Given the description of an element on the screen output the (x, y) to click on. 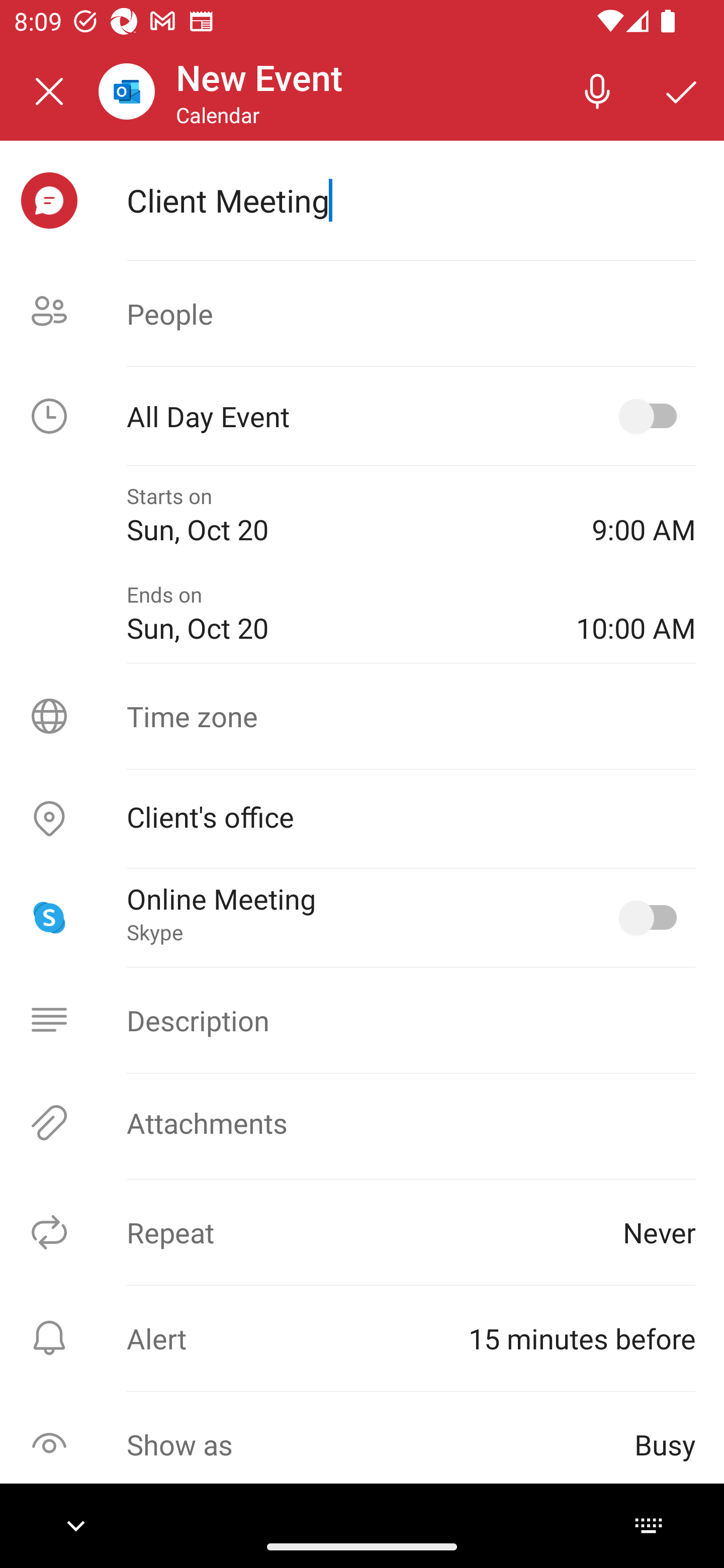
Close (49, 91)
Save (681, 90)
Client Meeting (410, 200)
meeting selected, event icon picker (48, 200)
People (362, 313)
All Day Event (362, 415)
Starts on Sun, Oct 20 (344, 514)
9:00 AM (643, 514)
Ends on Sun, Oct 20 (336, 613)
10:00 AM (635, 613)
Time zone (362, 715)
Location, Client's office Client's office (362, 818)
Online Meeting, Skype selected (651, 917)
Description (362, 1019)
Attachments (362, 1122)
Repeat Never (362, 1232)
Alert ⁨15 minutes before (362, 1337)
Show as Busy (362, 1444)
